Given the description of an element on the screen output the (x, y) to click on. 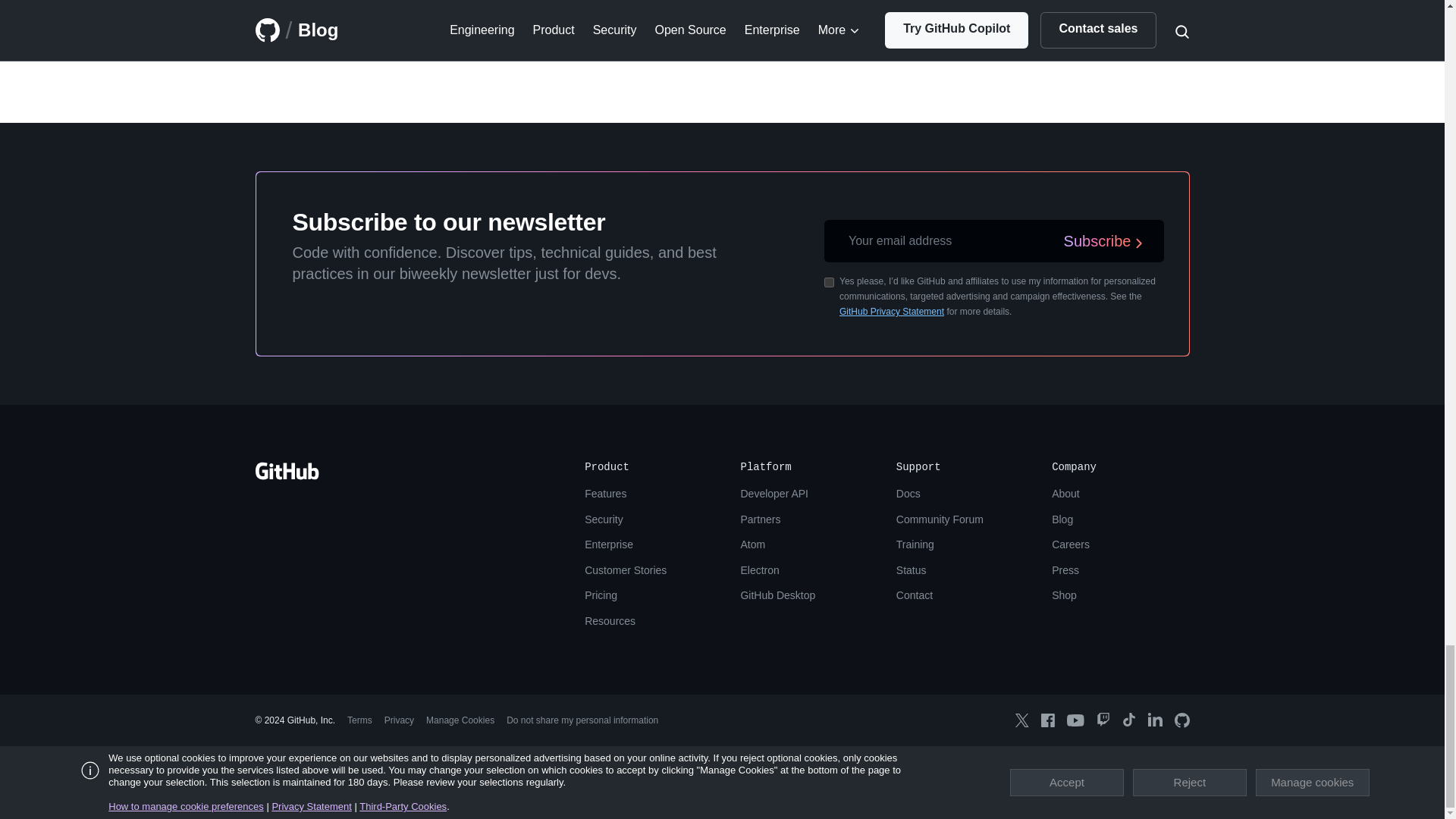
True (829, 282)
GitHub icon (1181, 720)
